Given the description of an element on the screen output the (x, y) to click on. 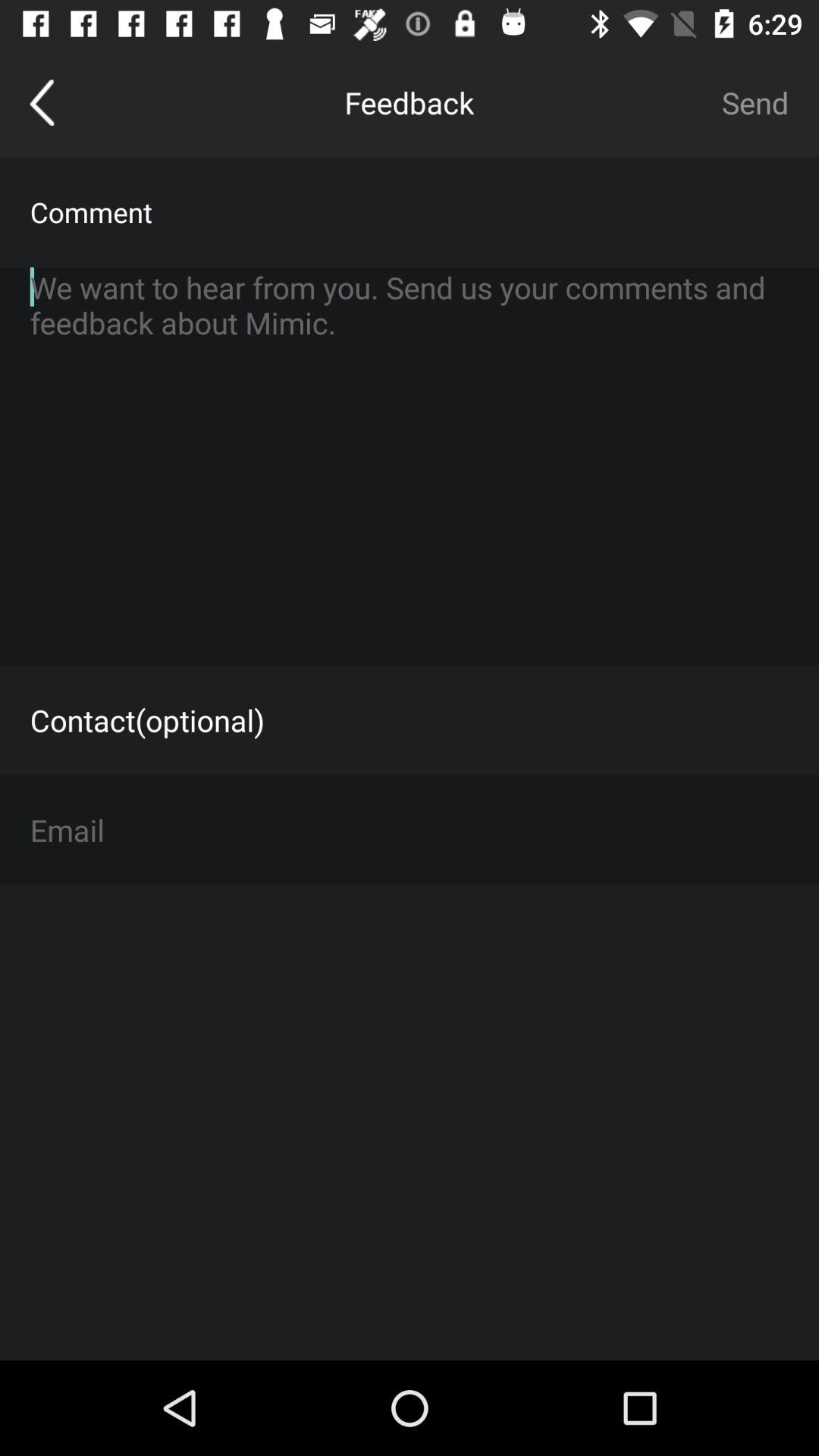
enter/type email address (409, 829)
